Given the description of an element on the screen output the (x, y) to click on. 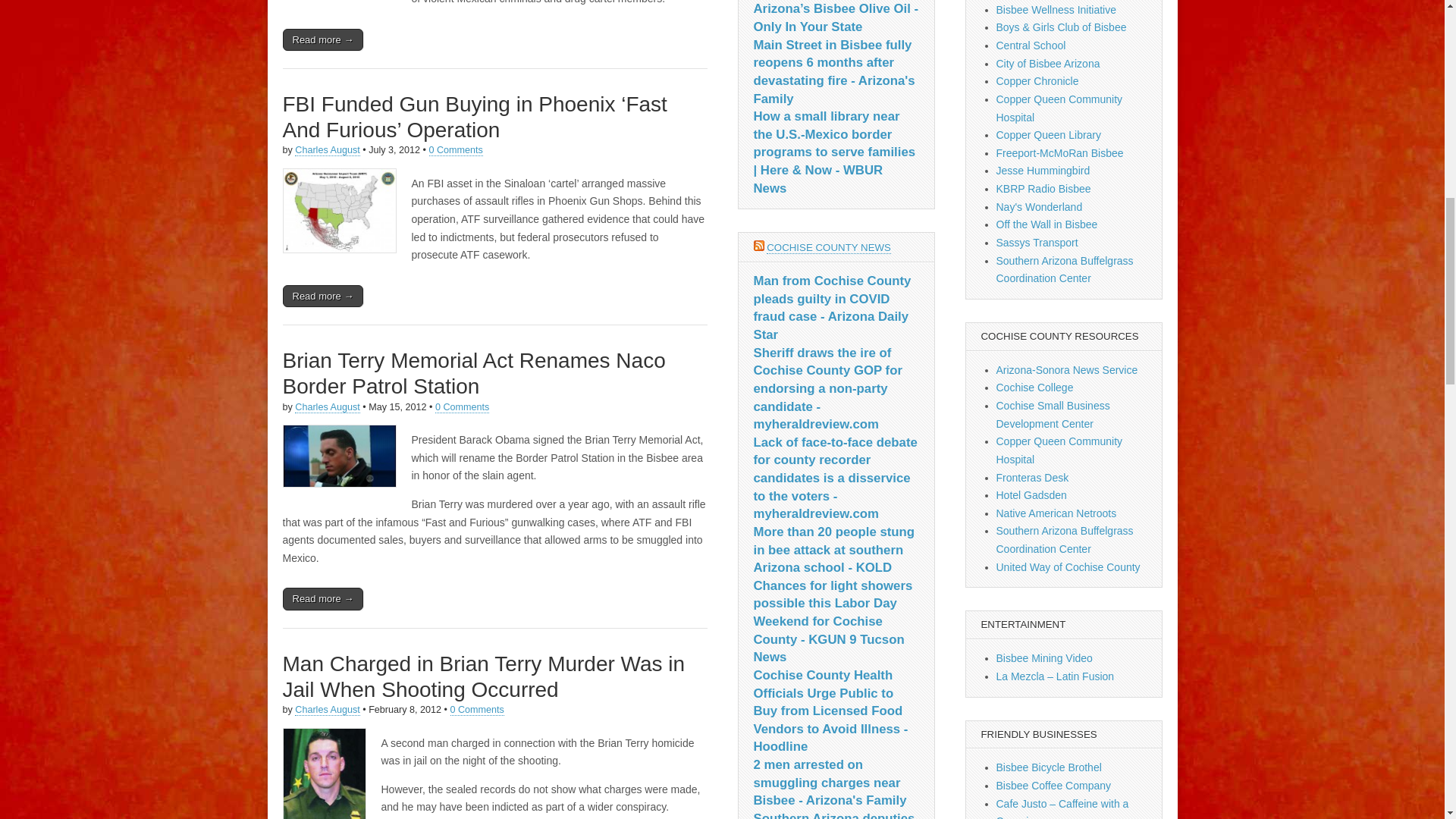
Brian Terry Memorial Act Renames Naco Border Patrol Station (473, 373)
Bisbee High School News (1036, 80)
Charles August (327, 709)
Posts by Charles August (327, 407)
Posts by Charles August (327, 150)
0 Comments (462, 407)
Charles August (327, 150)
Charles August (327, 407)
Posts by Charles August (327, 709)
